Given the description of an element on the screen output the (x, y) to click on. 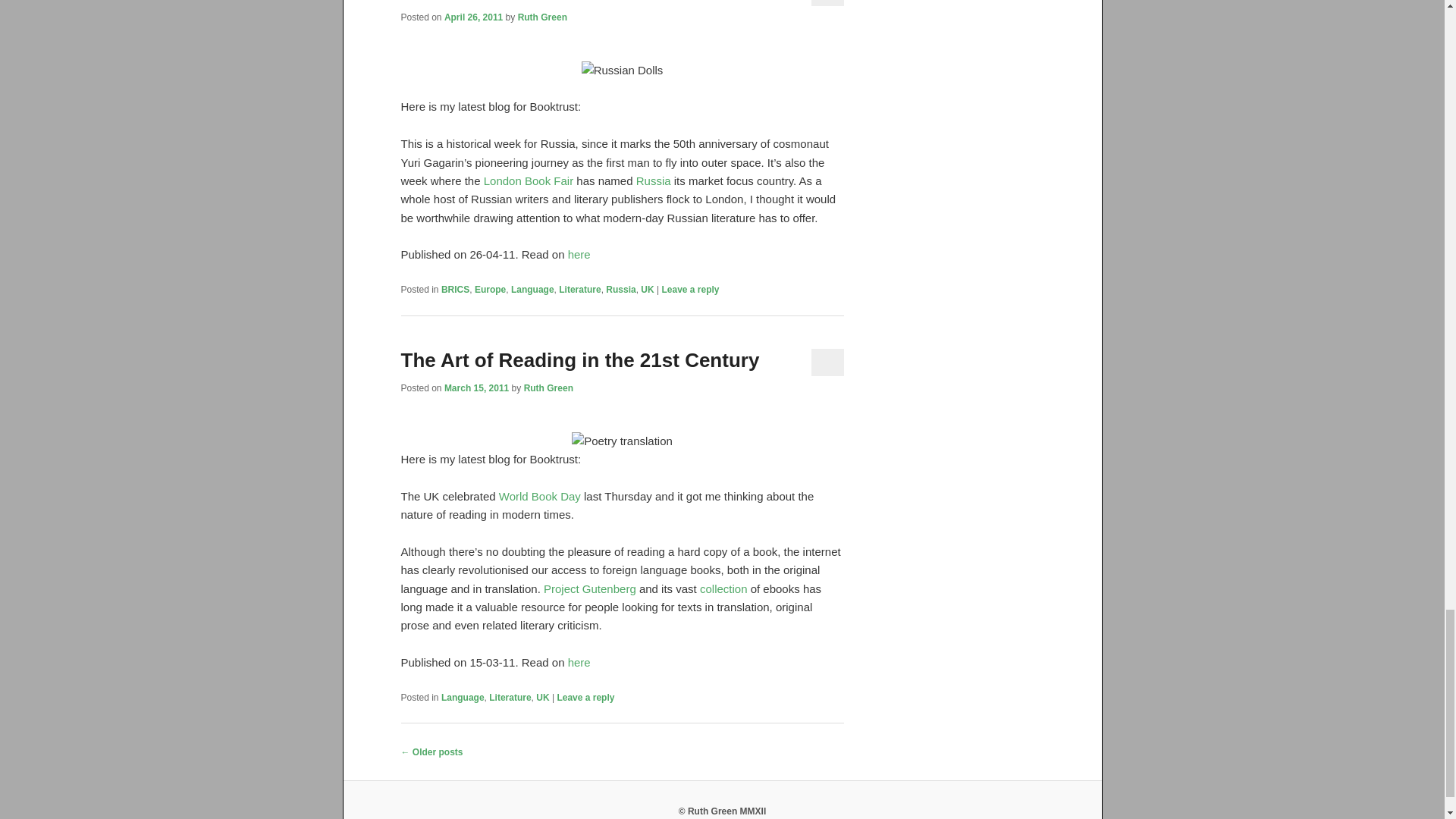
View all posts by Ruth Green (542, 17)
18:00 (473, 17)
